Given the description of an element on the screen output the (x, y) to click on. 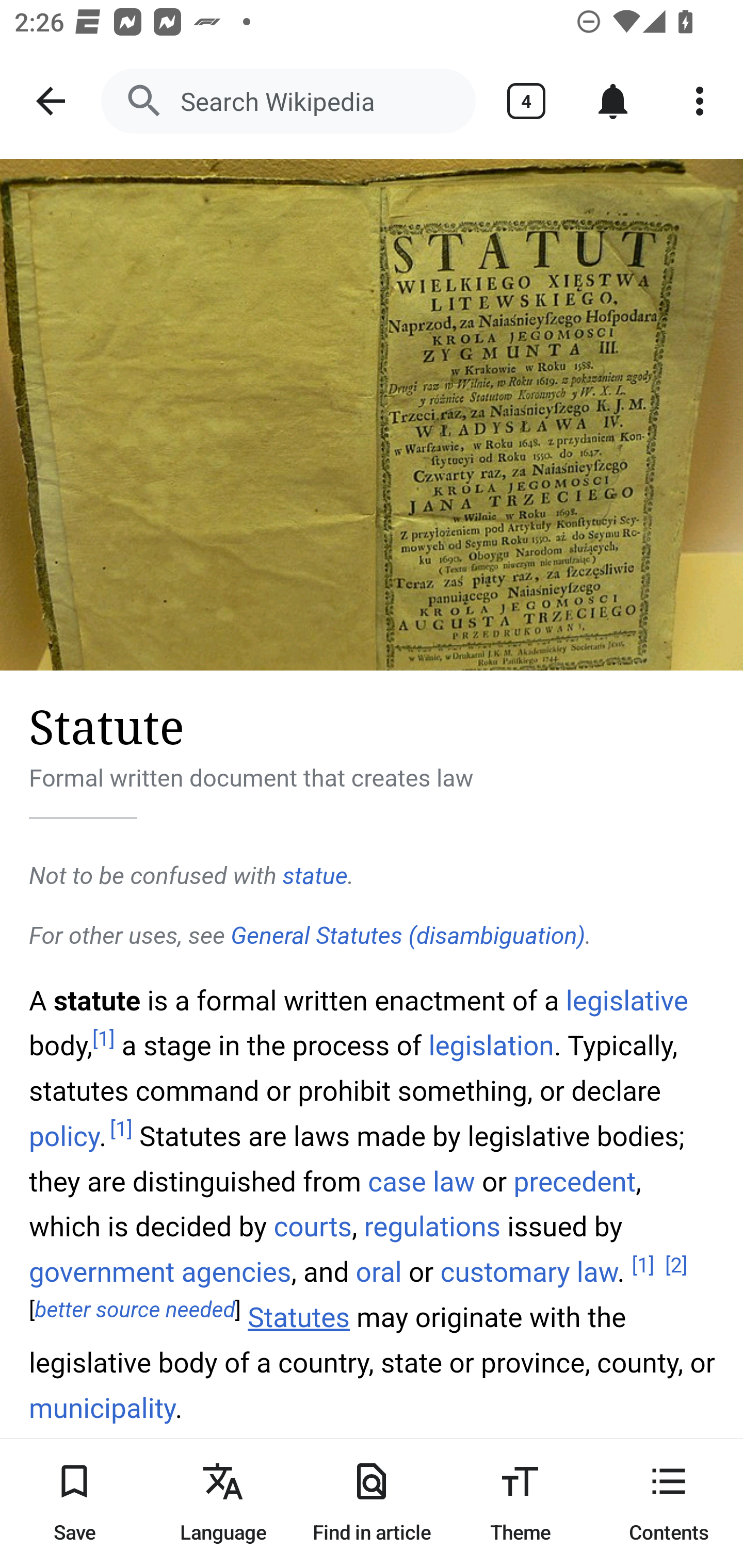
Show tabs 4 (525, 100)
Notifications (612, 100)
Navigate up (50, 101)
More options (699, 101)
Search Wikipedia (288, 100)
Image: Statute (371, 414)
statue (314, 876)
General Statutes (disambiguation) (407, 935)
legislative (626, 1000)
[] [ 1 ] (103, 1038)
legislation (490, 1045)
[] [ 1 ] (120, 1129)
policy (64, 1136)
case law (421, 1180)
precedent (574, 1180)
courts (312, 1225)
regulations (432, 1225)
[] [ 1 ] (642, 1264)
[] [ 2 ] (676, 1264)
government agencies (160, 1272)
oral (377, 1272)
customary law (528, 1272)
better source needed better   source   needed (135, 1310)
Statutes (298, 1318)
municipality (102, 1409)
Save (74, 1502)
Language (222, 1502)
Find in article (371, 1502)
Theme (519, 1502)
Contents (668, 1502)
